Given the description of an element on the screen output the (x, y) to click on. 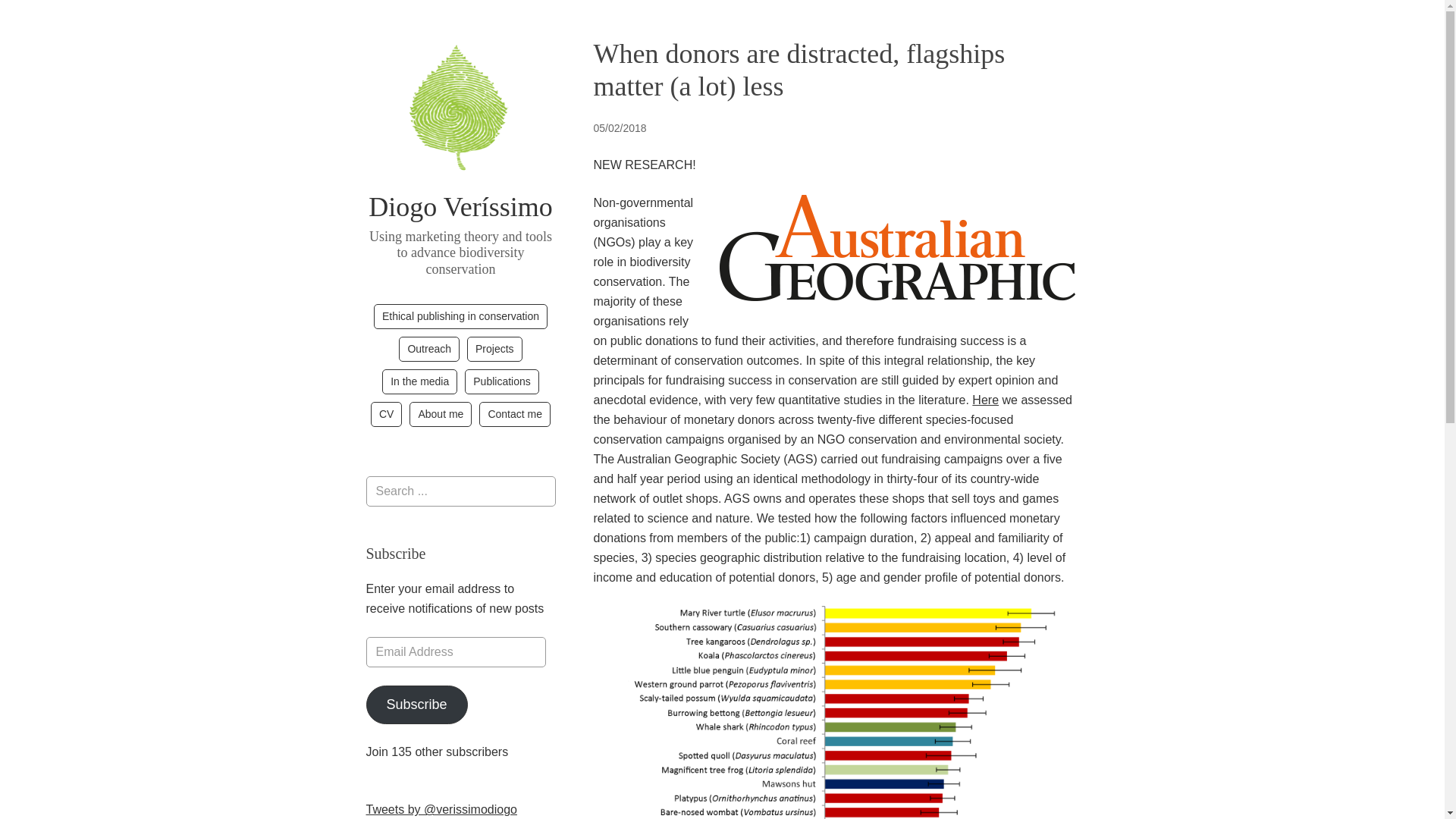
Projects (494, 348)
In the media (419, 381)
CV (386, 414)
Contact me (514, 414)
About me (440, 414)
Monday, February 5, 2018, 3:31 pm (619, 128)
Here (985, 399)
Search for: (459, 490)
Publications (501, 381)
Outreach (429, 348)
Ethical publishing in conservation (460, 316)
